Given the description of an element on the screen output the (x, y) to click on. 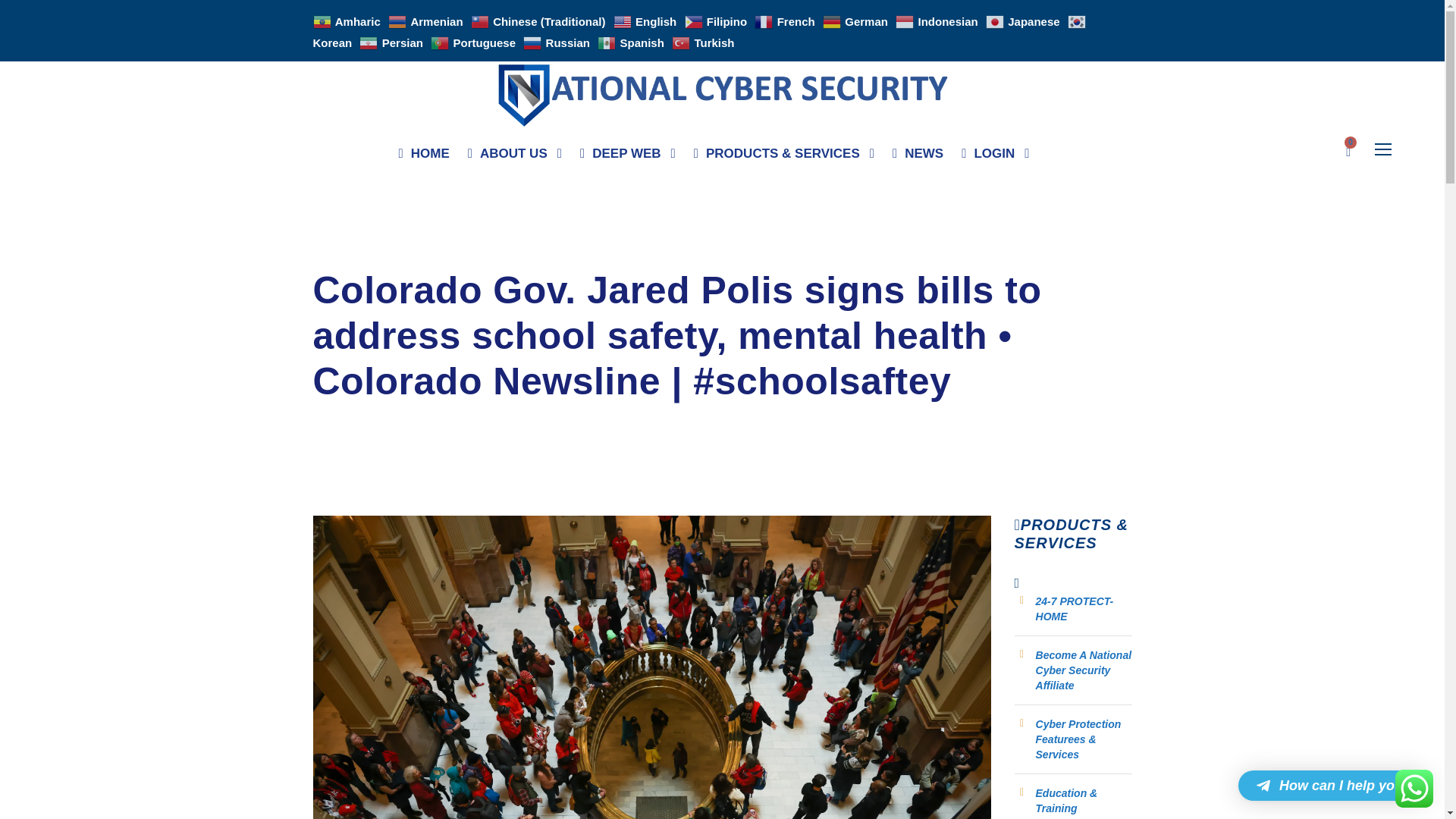
Posts by Natioinal Cyber Security Training Academy Corp (443, 254)
